Given the description of an element on the screen output the (x, y) to click on. 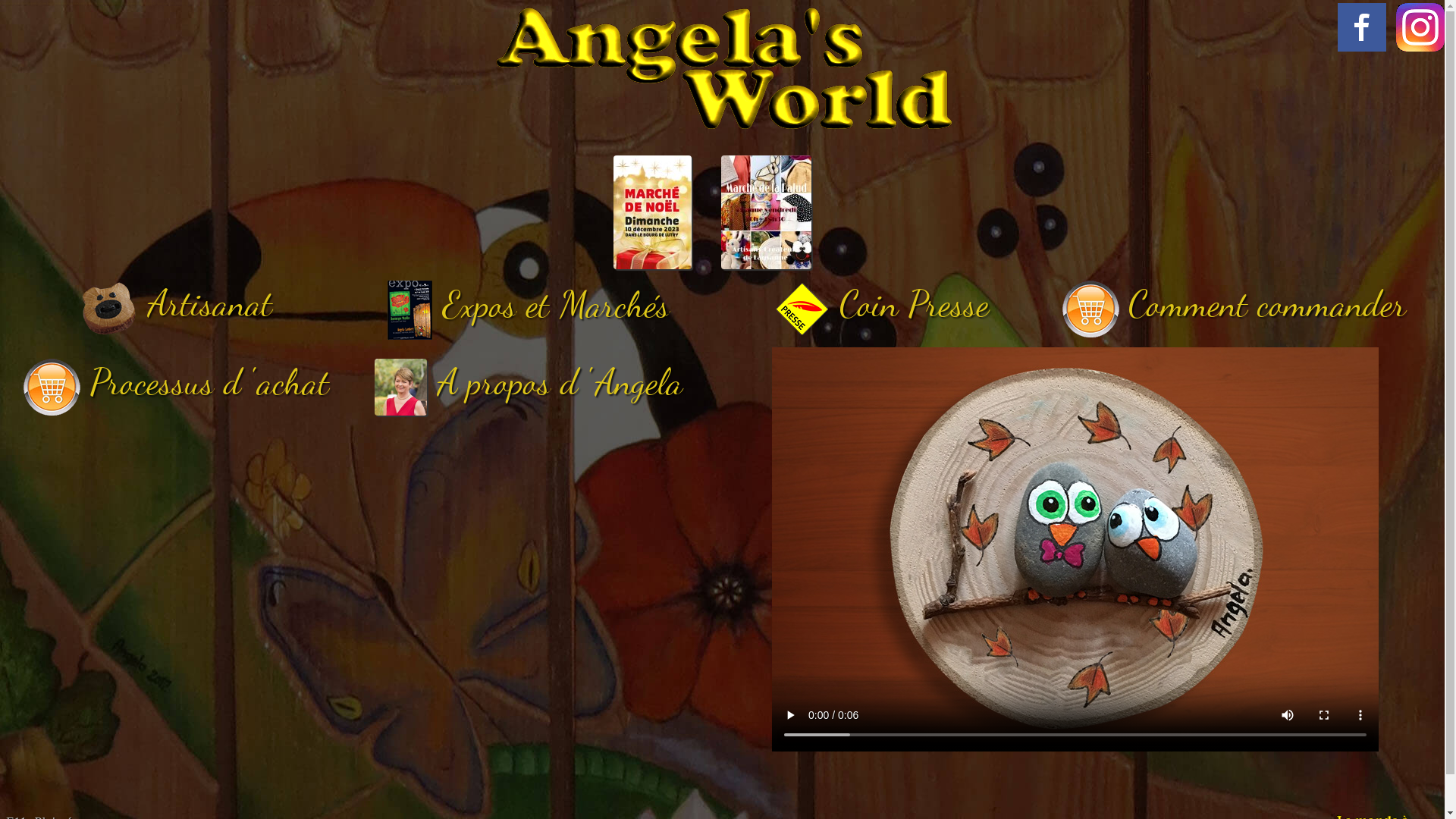
Comment commander Element type: text (1233, 304)
Processus d 'achat Element type: text (175, 382)
A propos d 'Angela Element type: text (528, 382)
Aller sur ma page Facebook. Element type: hover (1361, 27)
Aller sur ma page Facebook. Element type: hover (1420, 27)
Coin Presse Element type: text (881, 304)
Angela's World Element type: hover (722, 68)
Artisanat Element type: text (176, 303)
